Given the description of an element on the screen output the (x, y) to click on. 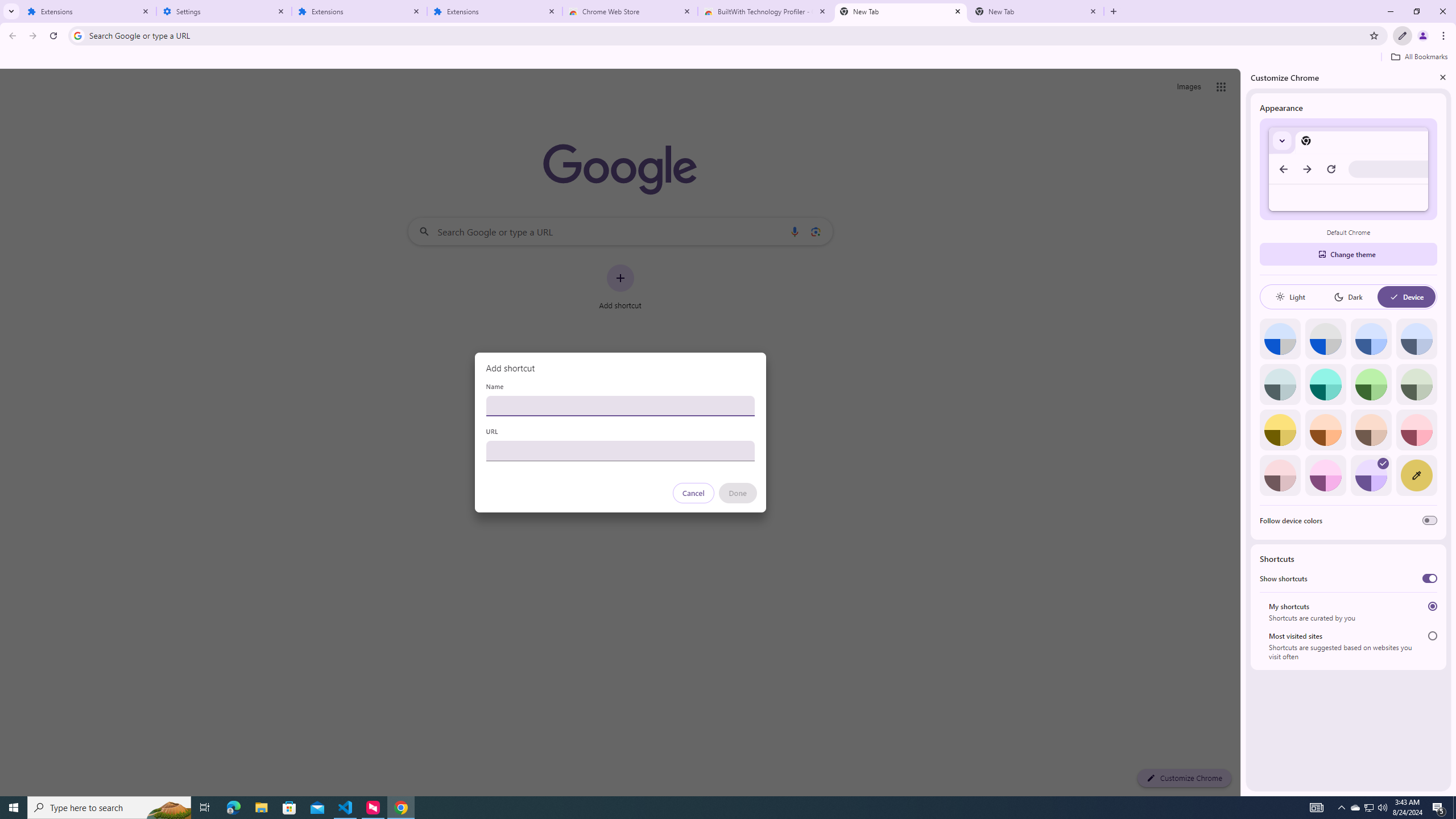
Pink (1279, 475)
Done (737, 493)
Fuchsia (1325, 475)
Settings (224, 11)
Dark (1348, 296)
Chrome Web Store (630, 11)
Extensions (494, 11)
AutomationID: baseSvg (1394, 296)
Side Panel Resize Handle (1242, 431)
Device (1406, 296)
